Given the description of an element on the screen output the (x, y) to click on. 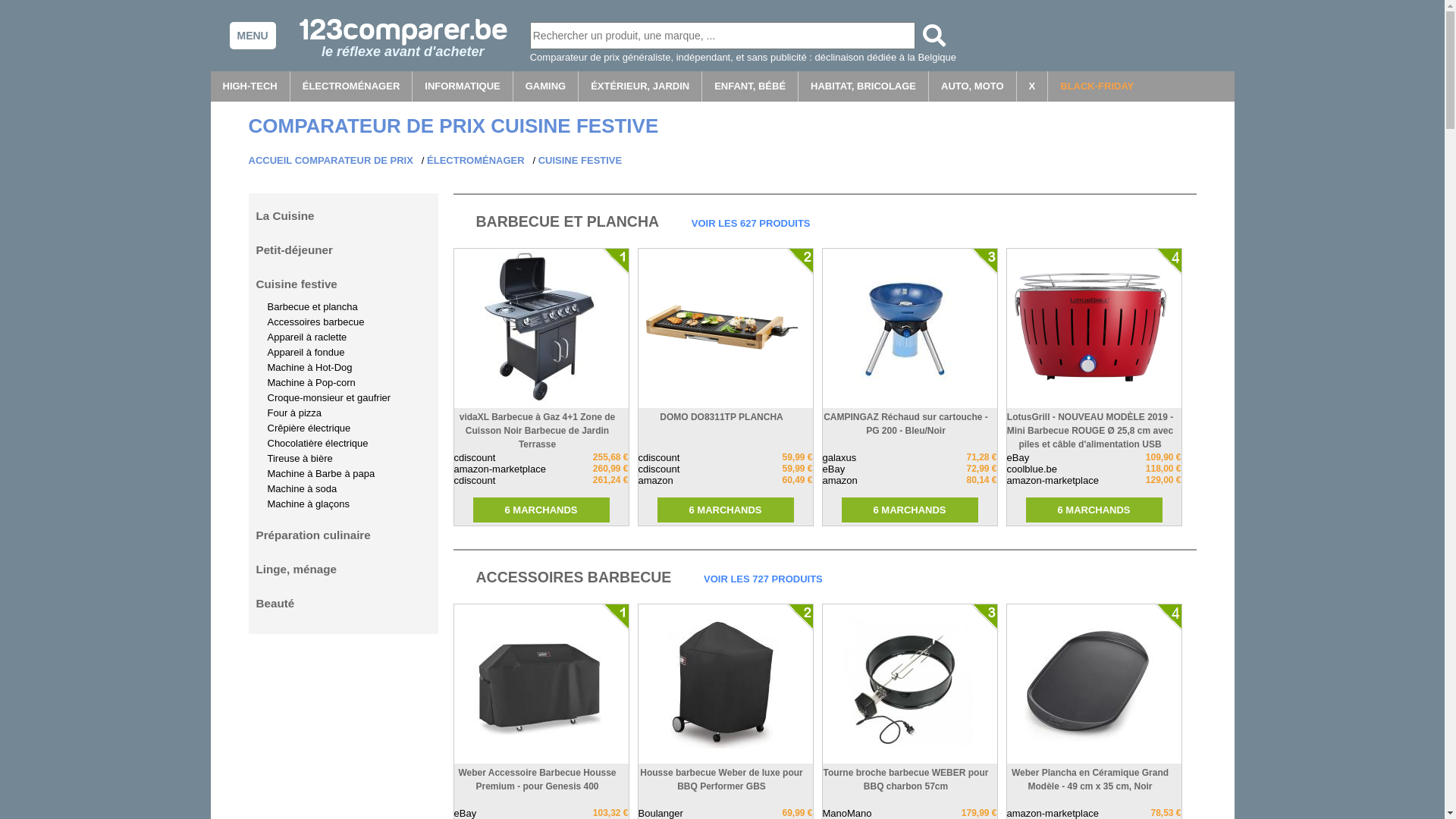
Barbecue et plancha Element type: text (311, 306)
X Element type: text (1032, 86)
Croque-monsieur et gaufrier Element type: text (328, 397)
HIGH-TECH Element type: text (250, 86)
CUISINE FESTIVE Element type: text (580, 160)
6 MARCHANDS Element type: text (541, 509)
AUTO, MOTO Element type: text (972, 86)
INFORMATIQUE Element type: text (462, 86)
ACCESSOIRES BARBECUE Element type: text (573, 576)
HABITAT, BRICOLAGE Element type: text (863, 86)
La Cuisine Element type: text (285, 215)
6 MARCHANDS Element type: text (1093, 509)
Cuisine festive Element type: text (296, 283)
ACCUEIL COMPARATEUR DE PRIX Element type: text (330, 160)
VOIR LES 627 PRODUITS Element type: text (750, 223)
6 MARCHANDS Element type: text (909, 509)
6 MARCHANDS Element type: text (724, 509)
GAMING Element type: text (545, 86)
Accessoires barbecue Element type: text (315, 321)
BARBECUE ET PLANCHA Element type: text (567, 221)
BLACK-FRIDAY Element type: text (1096, 86)
VOIR LES 727 PRODUITS Element type: text (762, 578)
